Given the description of an element on the screen output the (x, y) to click on. 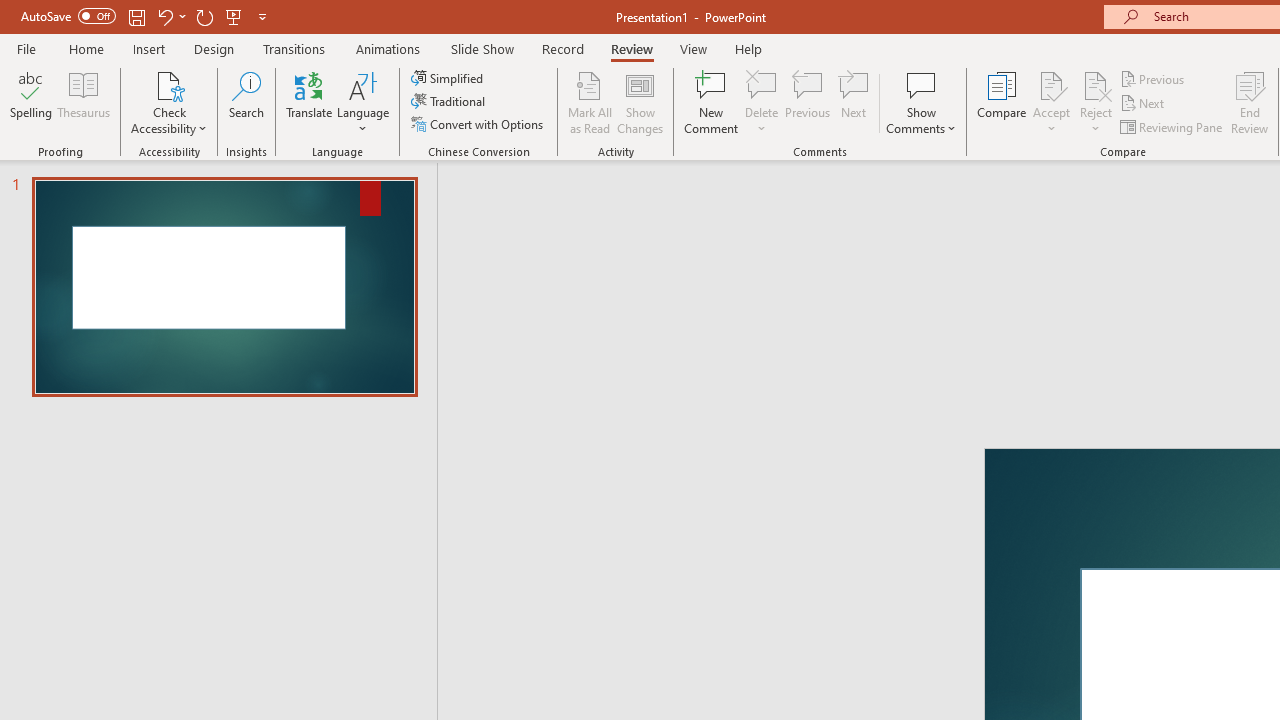
Reject Change (1096, 84)
Slide (224, 286)
Thesaurus... (83, 102)
Animations (388, 48)
Customize Quick Access Toolbar (262, 15)
End Review (1249, 102)
Reviewing Pane (1172, 126)
More Options (1096, 121)
Redo (204, 15)
Insert (149, 48)
Show Comments (921, 84)
Check Accessibility (169, 102)
